Given the description of an element on the screen output the (x, y) to click on. 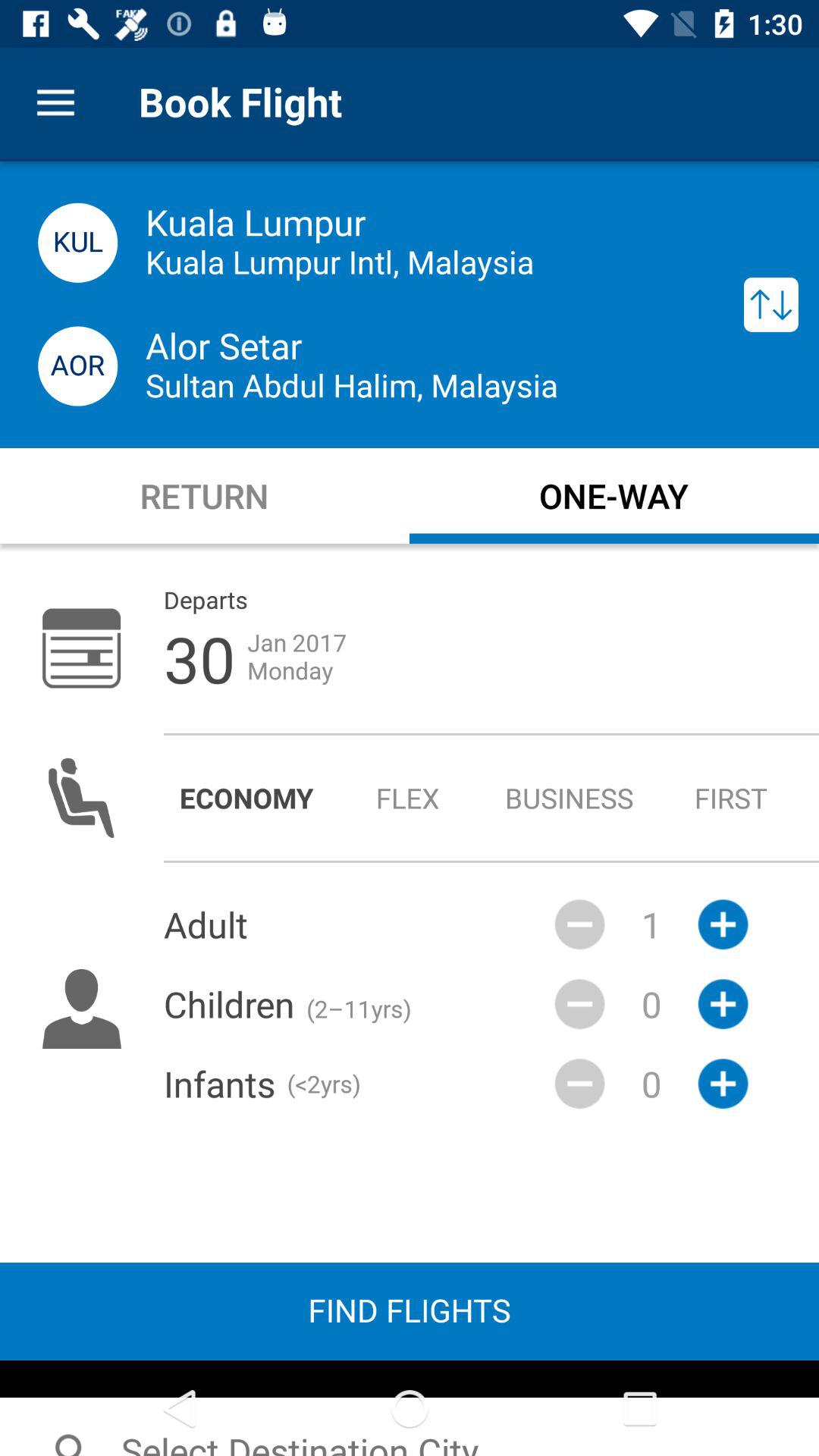
turn off flex radio button (407, 797)
